Given the description of an element on the screen output the (x, y) to click on. 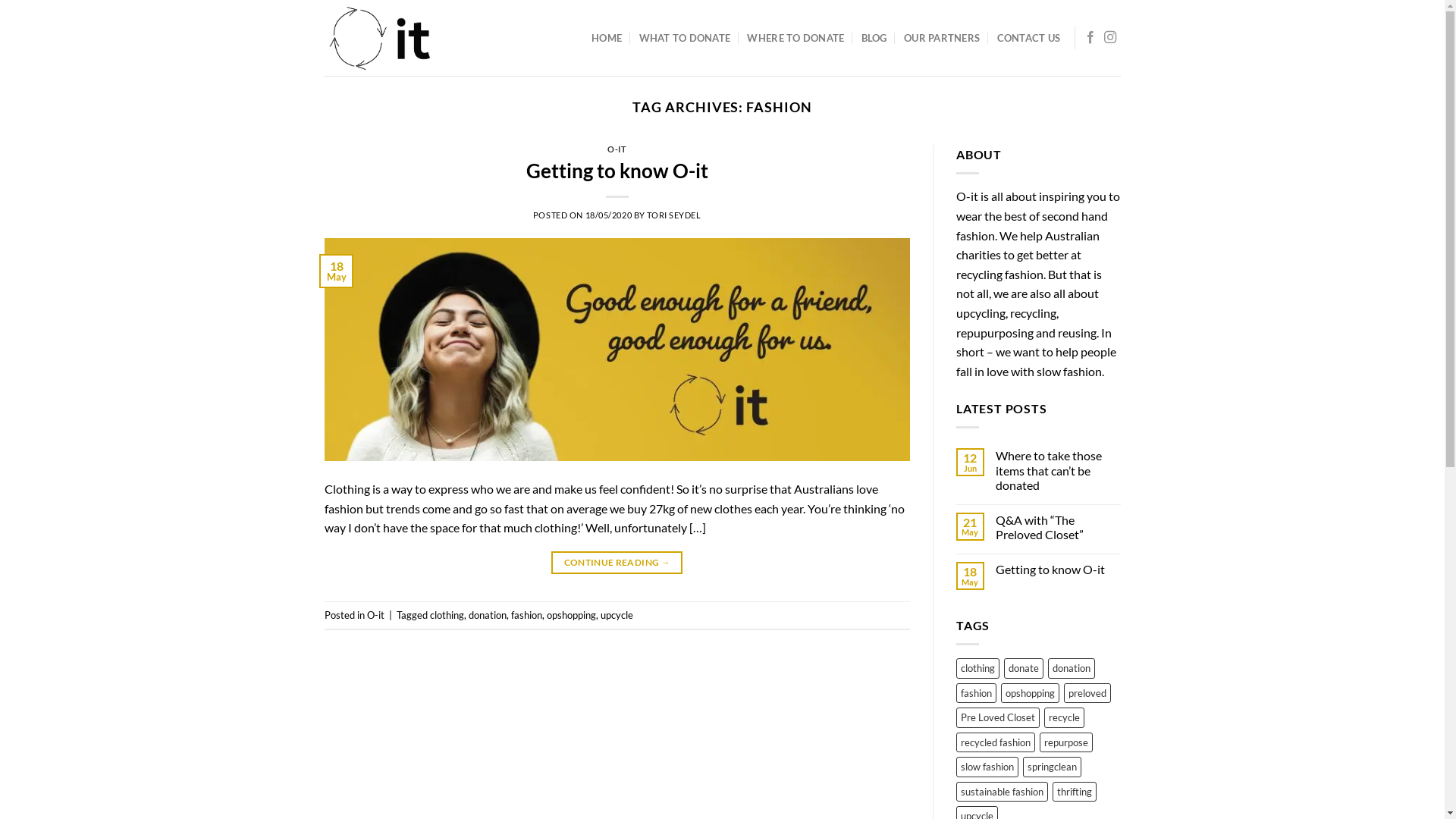
recycle Element type: text (1064, 717)
TORI SEYDEL Element type: text (673, 214)
CONTACT US Element type: text (1028, 37)
donate Element type: text (1023, 667)
springclean Element type: text (1051, 766)
O-it Element type: text (375, 614)
thrifting Element type: text (1074, 791)
18/05/2020 Element type: text (608, 214)
opshopping Element type: text (570, 614)
Getting to know O-it Element type: text (1057, 568)
sustainable fashion Element type: text (1002, 791)
fashion Element type: text (976, 692)
donation Element type: text (1071, 667)
fashion Element type: text (526, 614)
opshopping Element type: text (1030, 692)
WHAT TO DONATE Element type: text (685, 37)
clothing Element type: text (977, 667)
upcycle Element type: text (616, 614)
O-IT Element type: text (616, 148)
recycled fashion Element type: text (995, 742)
clothing Element type: text (446, 614)
Getting to know O-it Element type: text (617, 170)
Pre Loved Closet Element type: text (997, 717)
repurpose Element type: text (1065, 742)
WHERE TO DONATE Element type: text (795, 37)
BLOG Element type: text (874, 37)
HOME Element type: text (606, 37)
OUR PARTNERS Element type: text (941, 37)
preloved Element type: text (1086, 692)
slow fashion Element type: text (987, 766)
donation Element type: text (487, 614)
